Given the description of an element on the screen output the (x, y) to click on. 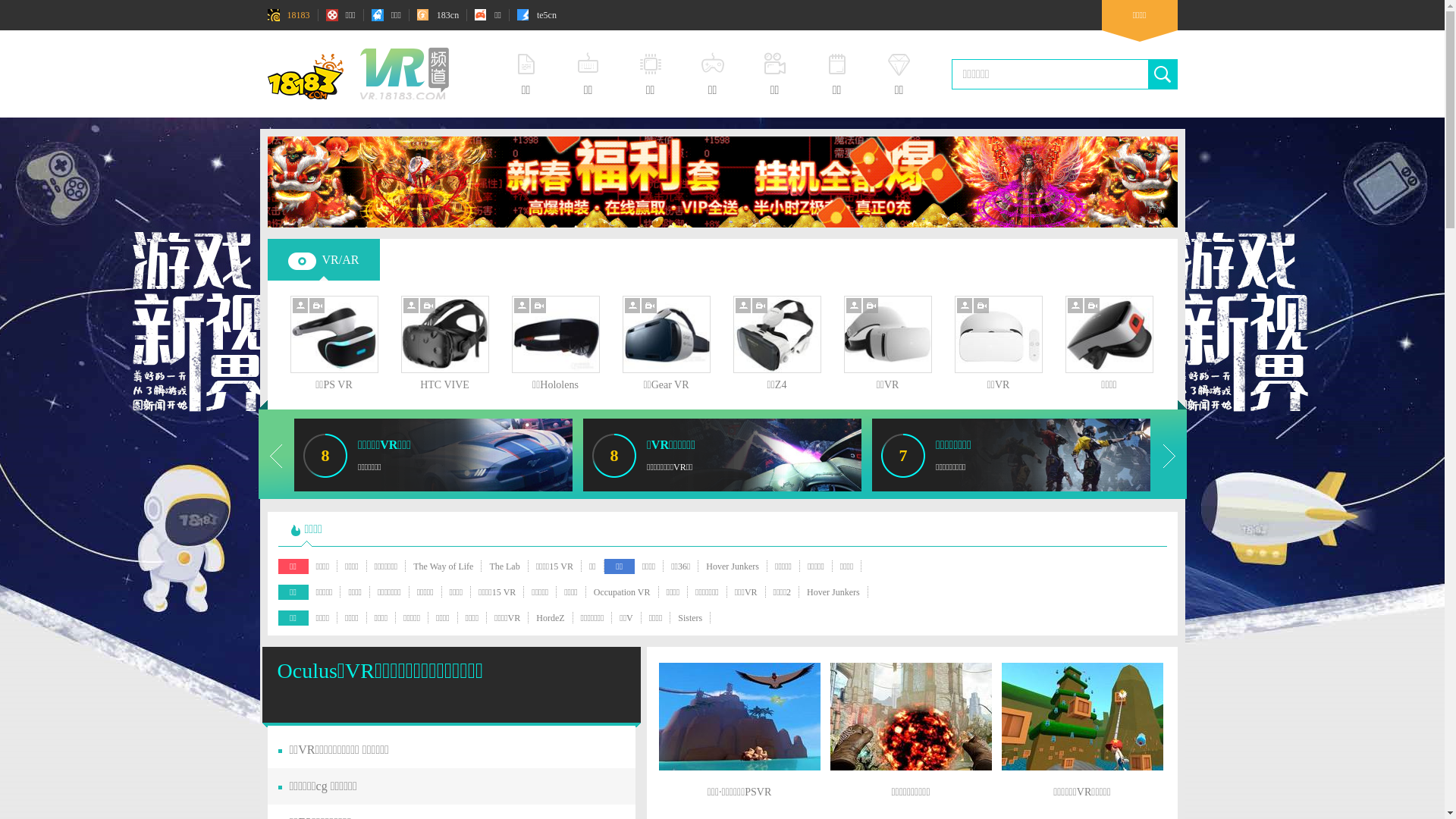
18183 Element type: text (287, 14)
183cn Element type: text (437, 14)
Hover Junkers Element type: text (732, 566)
Hover Junkers Element type: text (833, 592)
te5cn Element type: text (536, 14)
Occupation VR Element type: text (622, 592)
The Way of Life Element type: text (442, 566)
HordeZ Element type: text (549, 617)
The Lab Element type: text (504, 566)
Sisters Element type: text (689, 617)
HTC VIVE Element type: text (444, 379)
